Given the description of an element on the screen output the (x, y) to click on. 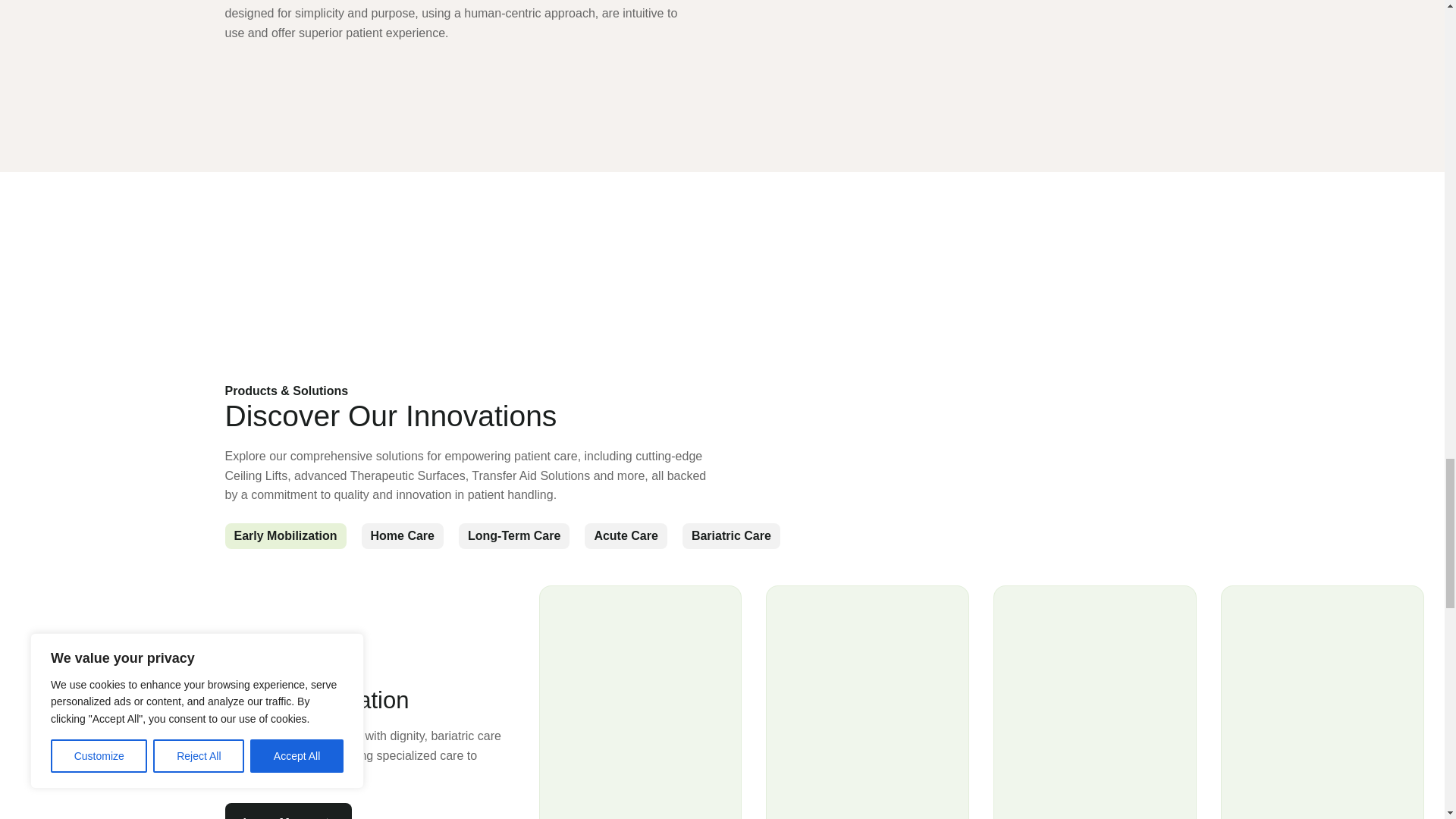
icon-green-circles (334, 314)
